Given the description of an element on the screen output the (x, y) to click on. 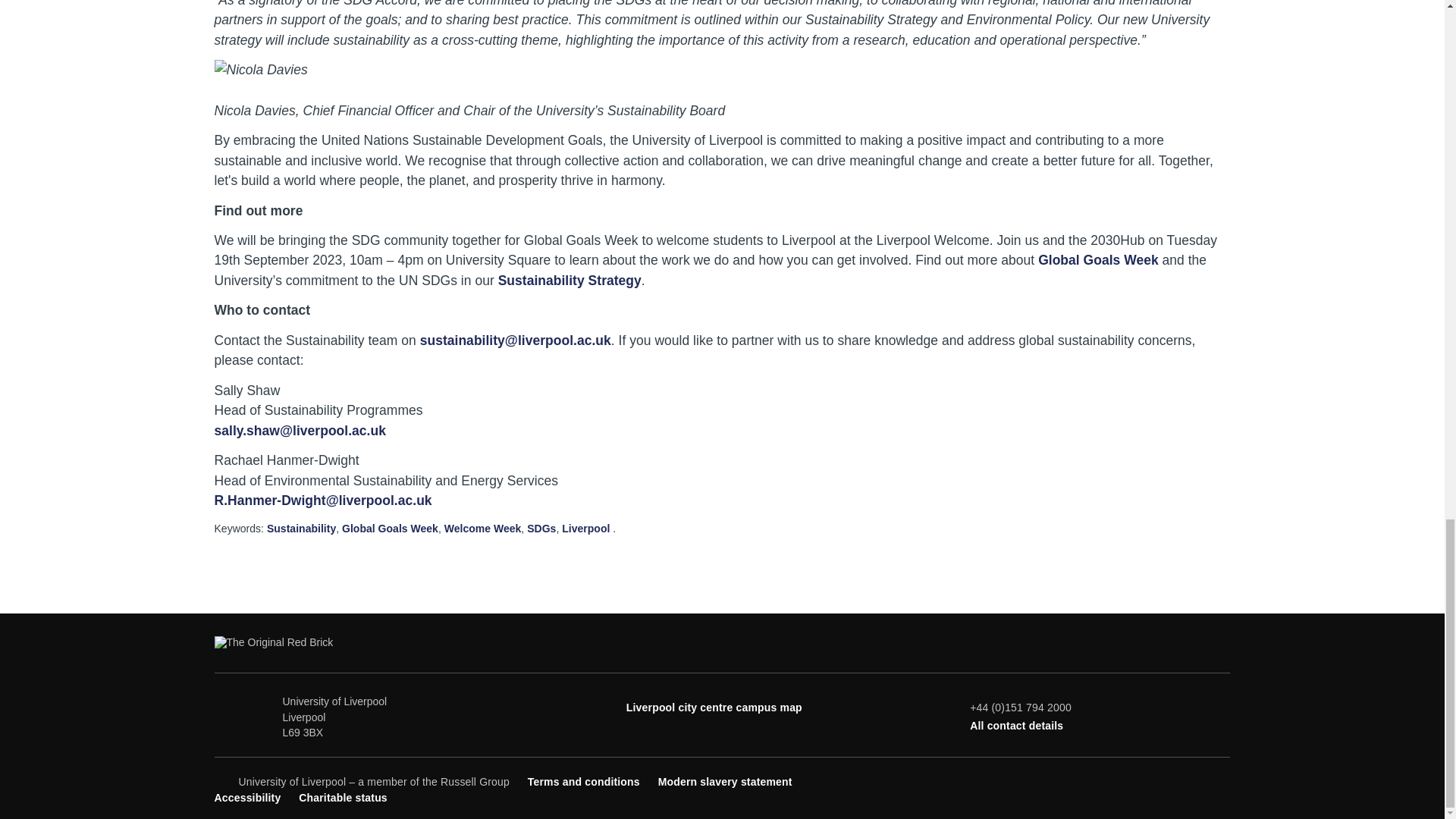
Terms and Conditions (583, 781)
linkedin (1220, 779)
Contact us (1015, 725)
Maps (714, 707)
facebook (1121, 779)
youtube (1170, 779)
twitter (1146, 779)
Modern slavery statement (725, 781)
instagram (1196, 779)
